Given the description of an element on the screen output the (x, y) to click on. 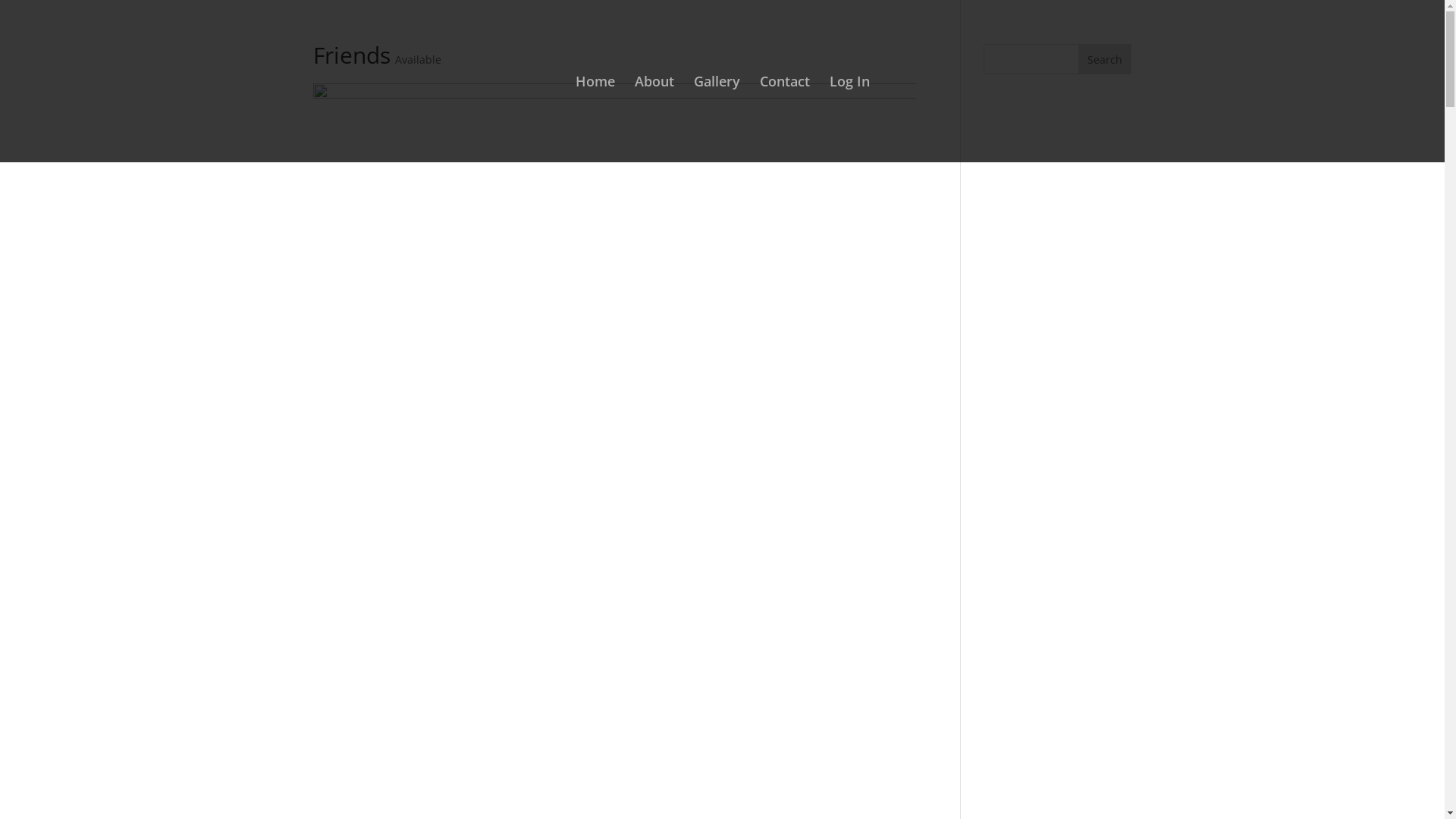
Available Element type: text (417, 59)
Gallery Element type: text (716, 118)
Contact Element type: text (784, 118)
About Element type: text (653, 118)
Log In Element type: text (849, 118)
Search Element type: text (1104, 58)
Home Element type: text (594, 118)
